Given the description of an element on the screen output the (x, y) to click on. 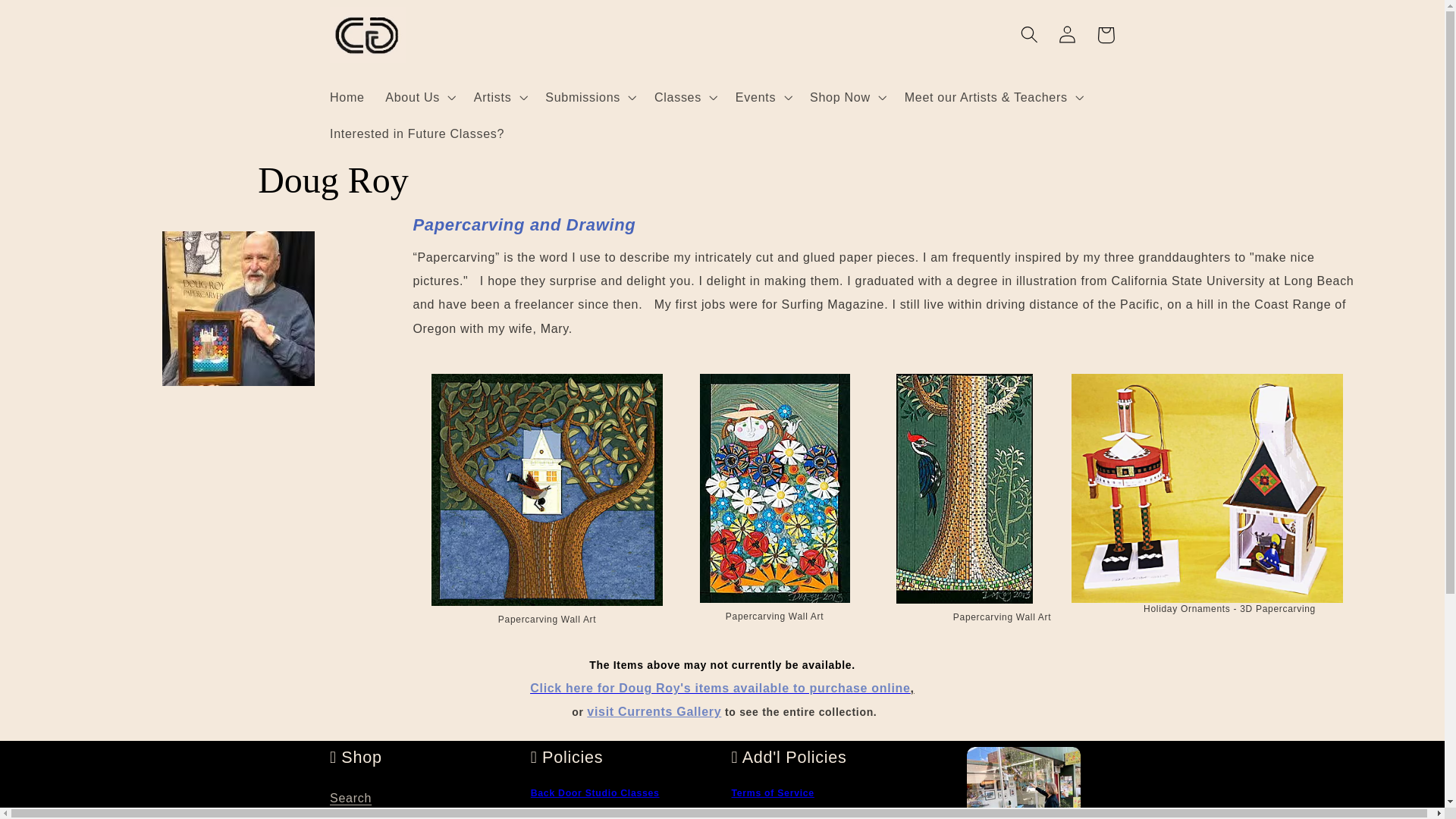
Terms of Service (771, 792)
Skip to content (51, 19)
